Given the description of an element on the screen output the (x, y) to click on. 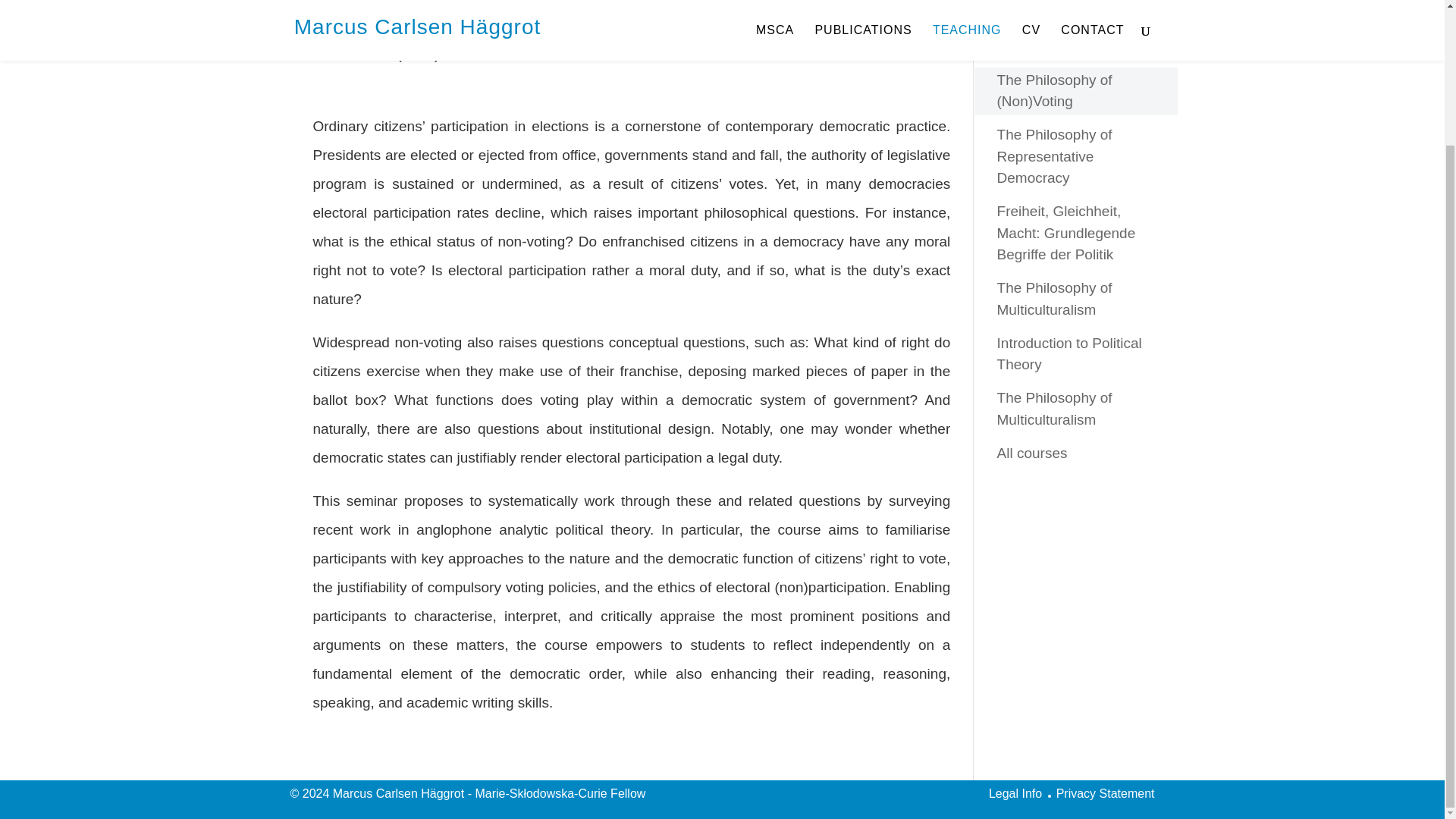
Introduction to Political Theory (1069, 353)
The Philosophy of Multiculturalism (1054, 408)
Legal Info (1015, 793)
The Philosophy of Multiculturalism (1054, 298)
Privacy Statement (1105, 793)
All courses (1032, 453)
The Philosophy of Representative Democracy (1054, 155)
